Given the description of an element on the screen output the (x, y) to click on. 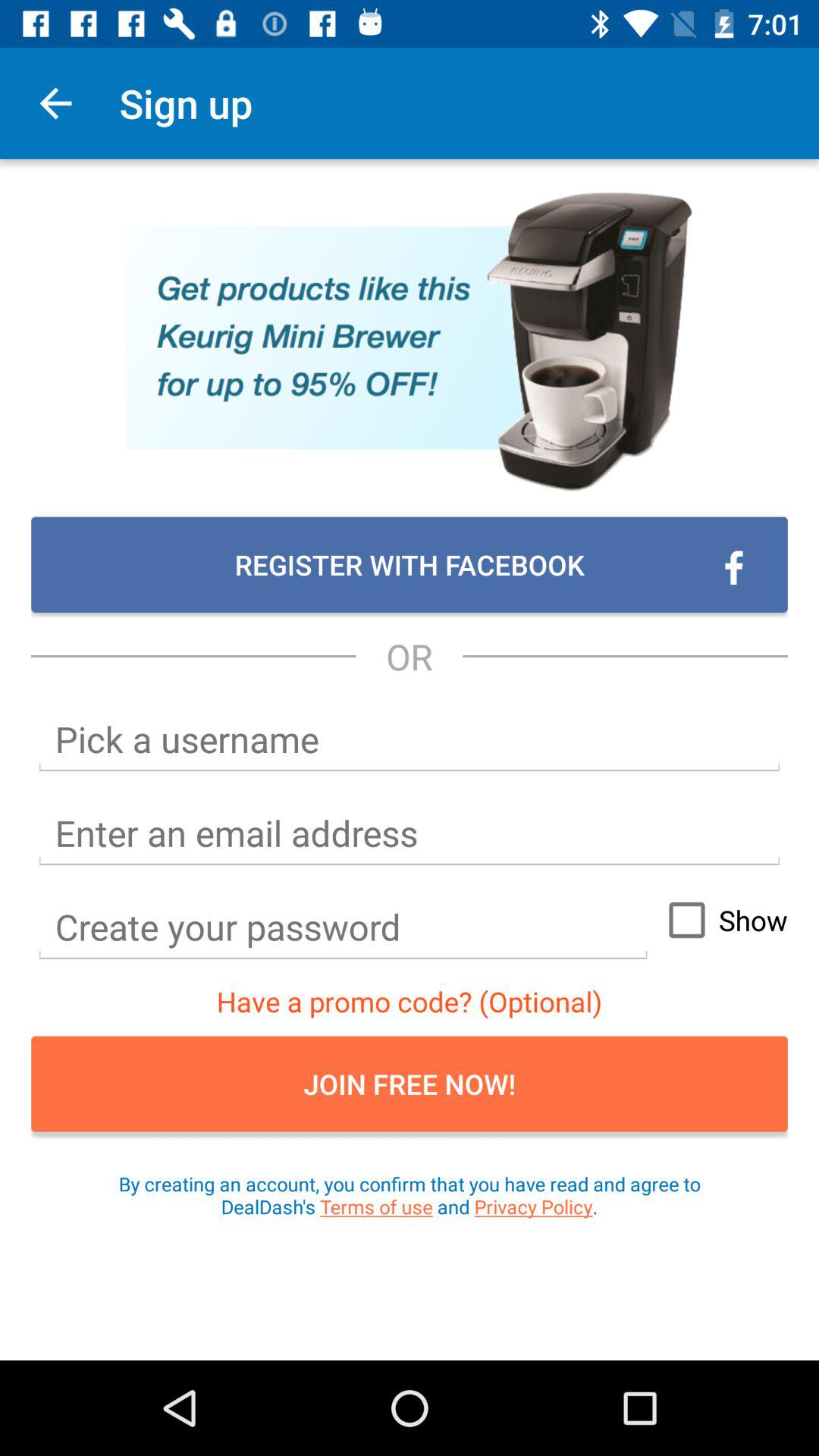
scroll until join free now! item (409, 1083)
